Given the description of an element on the screen output the (x, y) to click on. 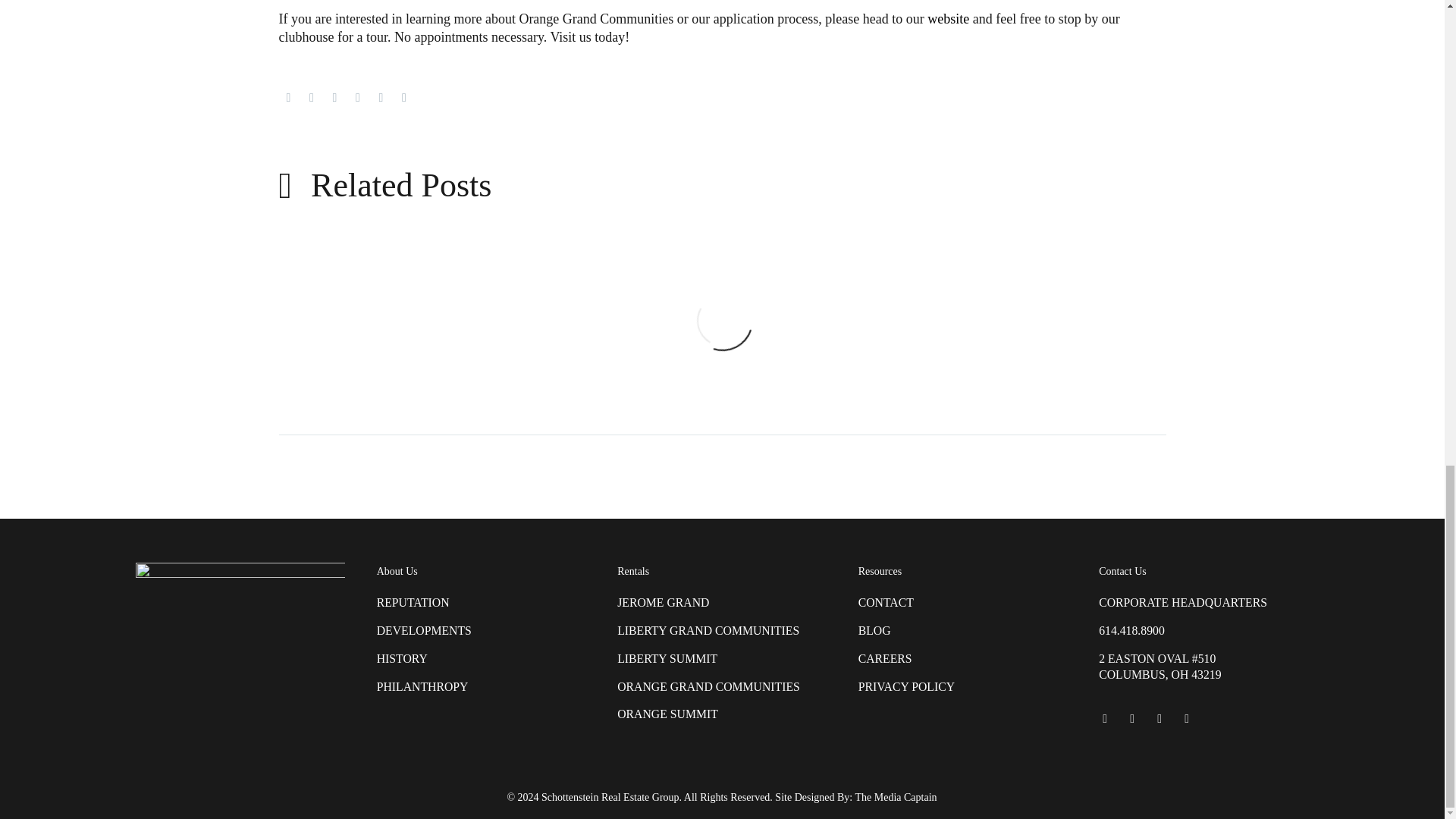
Pinterest (334, 97)
Twitter (311, 97)
Tumblr (358, 97)
SRE-Logo-white (239, 595)
Reddit (403, 97)
website (948, 18)
Facebook (288, 97)
LinkedIn (380, 97)
